Given the description of an element on the screen output the (x, y) to click on. 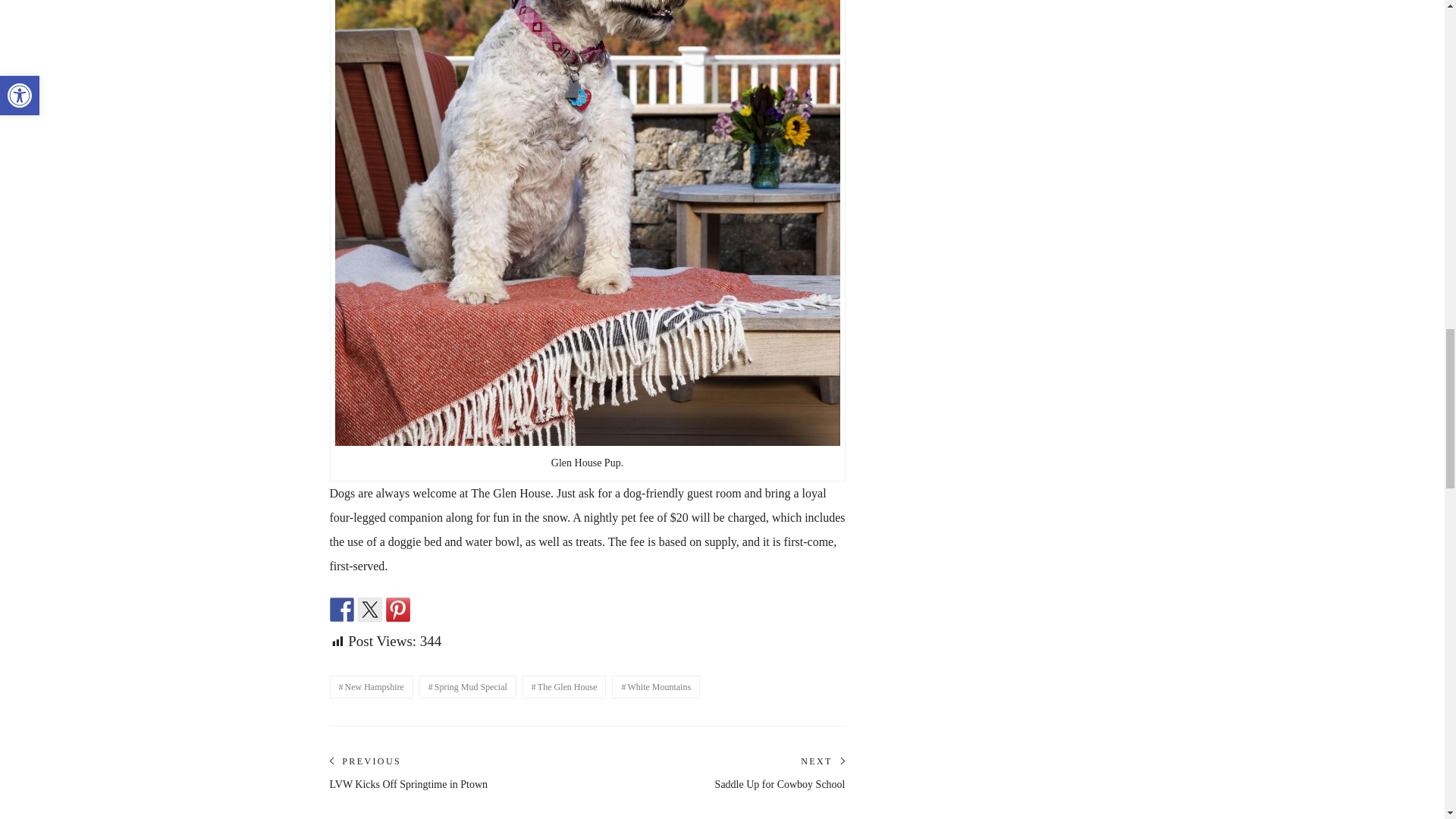
Share on Facebook (341, 609)
Share on Twitter (369, 609)
New Hampshire (370, 686)
Pin it with Pinterest (397, 609)
Spring Mud Special (467, 686)
